Given the description of an element on the screen output the (x, y) to click on. 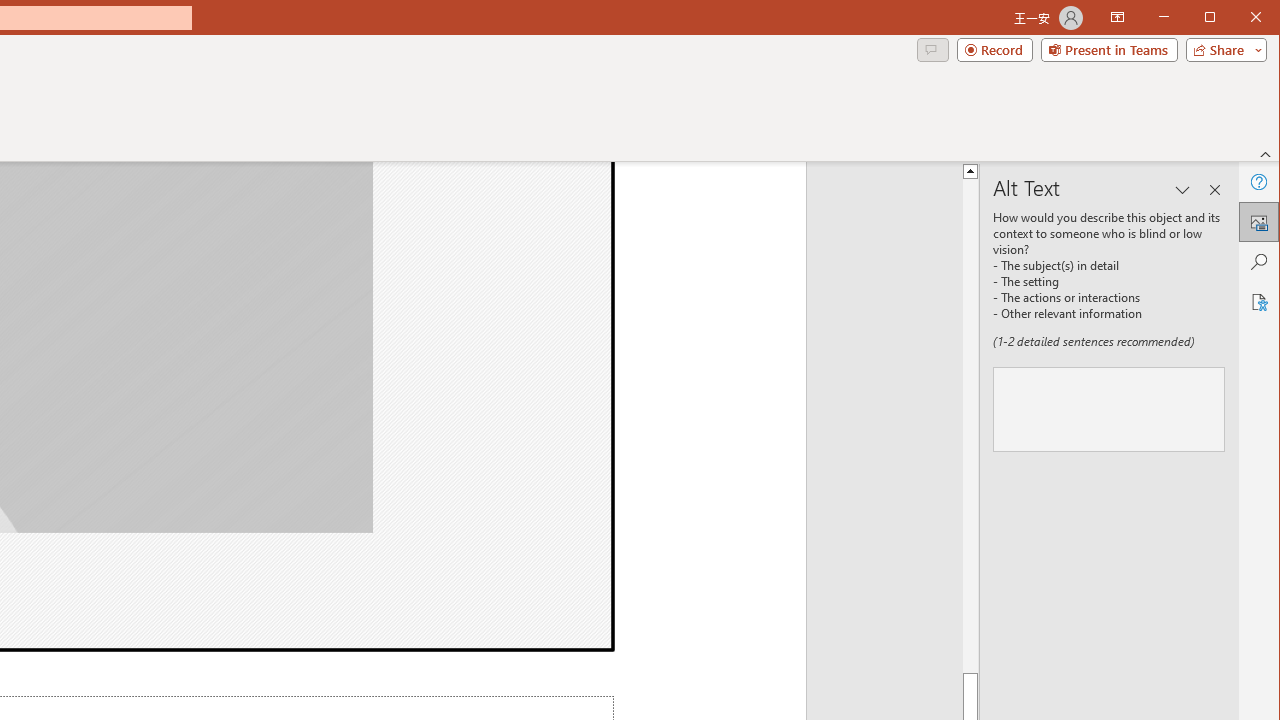
Description (1109, 408)
